Given the description of an element on the screen output the (x, y) to click on. 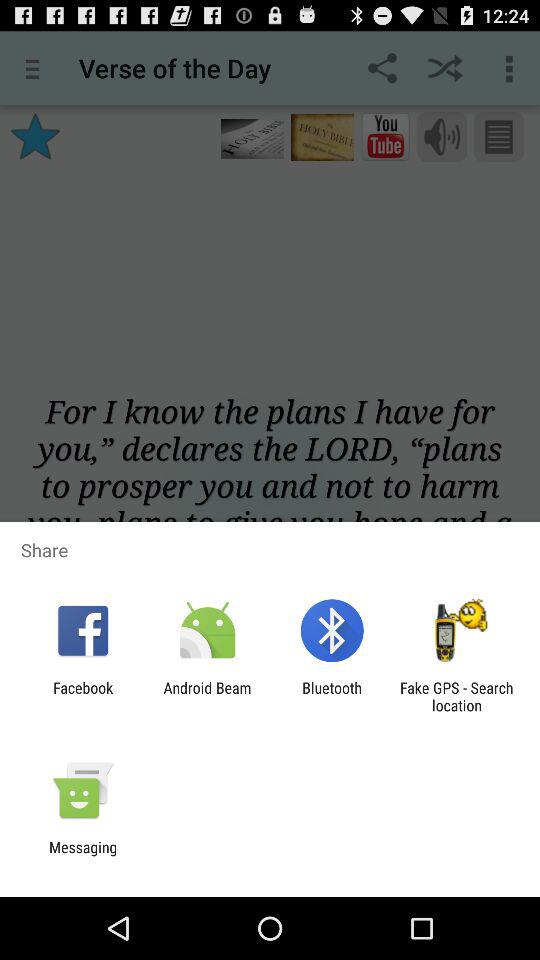
click the item to the right of the facebook (207, 696)
